Given the description of an element on the screen output the (x, y) to click on. 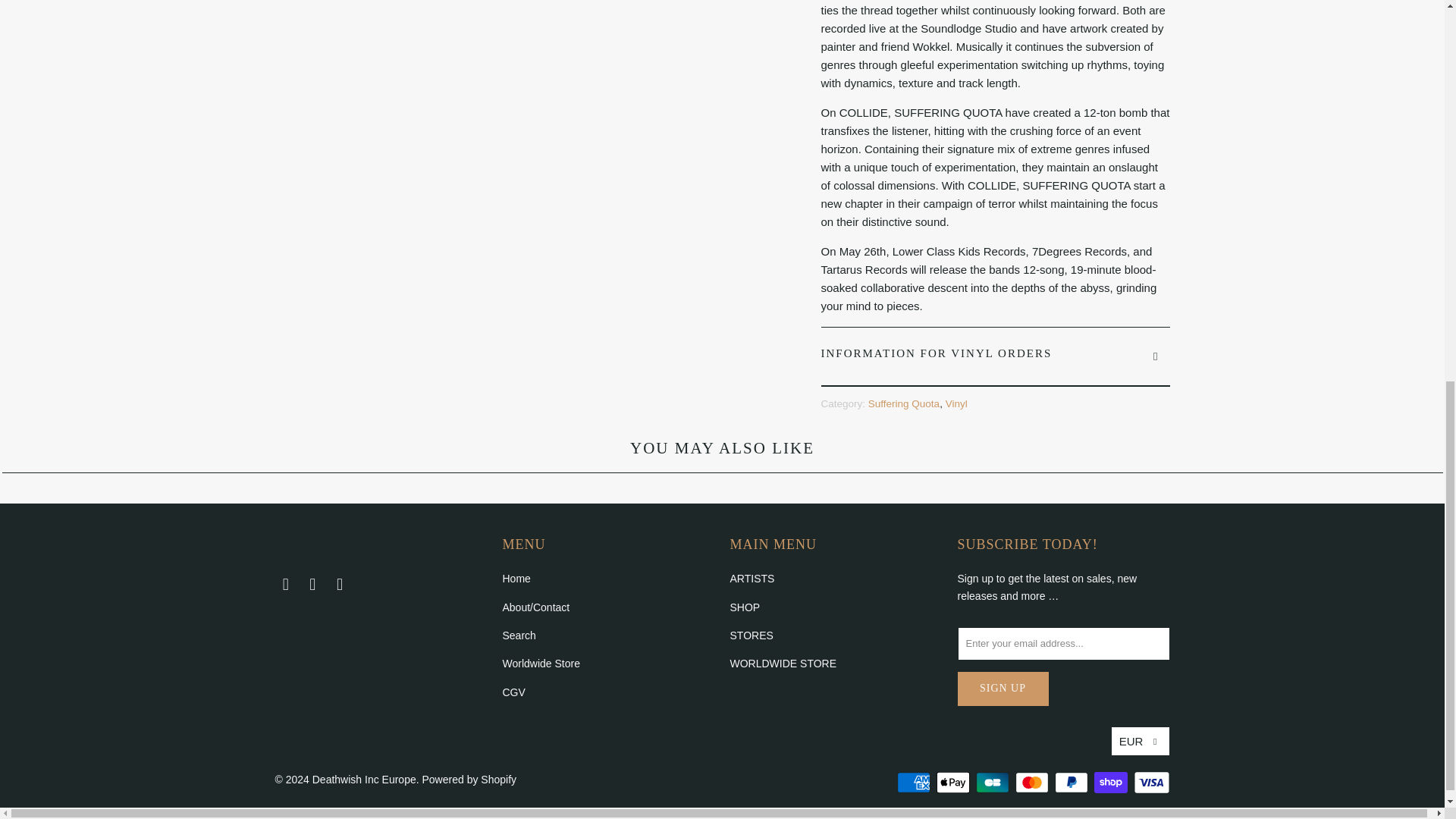
Apple Pay (954, 782)
Sign Up (1002, 688)
Deathwish Inc Europe on Instagram (340, 584)
American Express (914, 782)
Mastercard (1032, 782)
Visa (1150, 782)
Products tagged Suffering Quota (903, 403)
Shop Pay (1112, 782)
Deathwish Inc Europe on Facebook (312, 584)
PayPal (1072, 782)
Products tagged Vinyl (956, 403)
Deathwish Inc Europe on Twitter (286, 584)
Cartes Bancaires (993, 782)
